Given the description of an element on the screen output the (x, y) to click on. 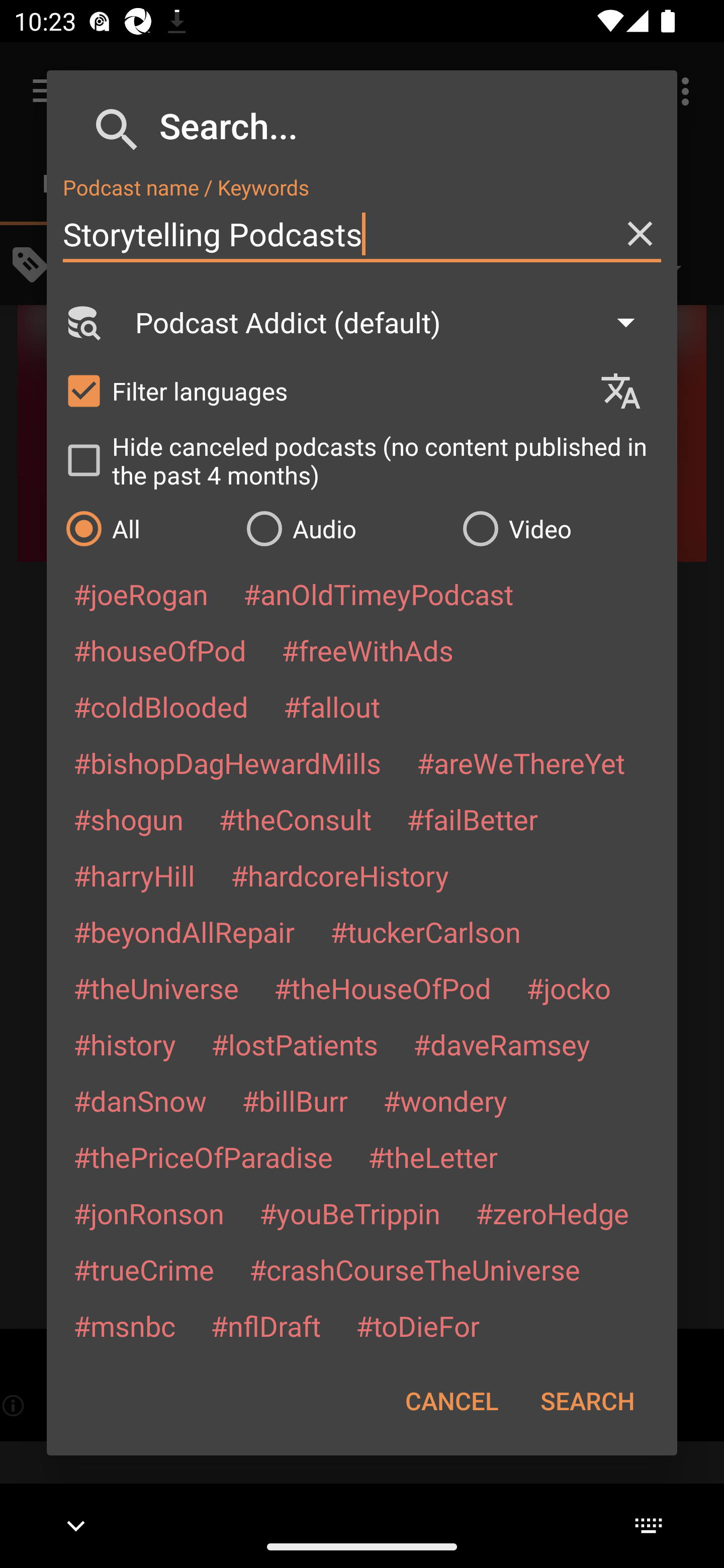
Storytelling Podcasts (361, 234)
Search Engine (82, 322)
Podcast Addict (default) (394, 322)
Languages selection (629, 390)
Filter languages (322, 390)
All (145, 528)
Audio (344, 528)
Video (560, 528)
#joeRogan (140, 594)
#anOldTimeyPodcast (378, 594)
#houseOfPod (159, 650)
#freeWithAds (367, 650)
#coldBlooded (160, 705)
#fallout (331, 705)
#bishopDagHewardMills (227, 762)
#areWeThereYet (521, 762)
#shogun (128, 818)
#theConsult (294, 818)
#failBetter (471, 818)
#harryHill (134, 875)
#hardcoreHistory (339, 875)
#beyondAllRepair (184, 931)
#tuckerCarlson (425, 931)
#theUniverse (155, 987)
#theHouseOfPod (381, 987)
#jocko (568, 987)
#history (124, 1044)
#lostPatients (294, 1044)
#daveRamsey (501, 1044)
#danSnow (139, 1100)
#billBurr (294, 1100)
#wondery (444, 1100)
#thePriceOfParadise (203, 1157)
#theLetter (432, 1157)
#jonRonson (148, 1213)
#youBeTrippin (349, 1213)
#zeroHedge (552, 1213)
#trueCrime (143, 1268)
#crashCourseTheUniverse (414, 1268)
#msnbc (124, 1325)
#nflDraft (265, 1325)
#toDieFor (417, 1325)
CANCEL (451, 1400)
SEARCH (587, 1400)
